Given the description of an element on the screen output the (x, y) to click on. 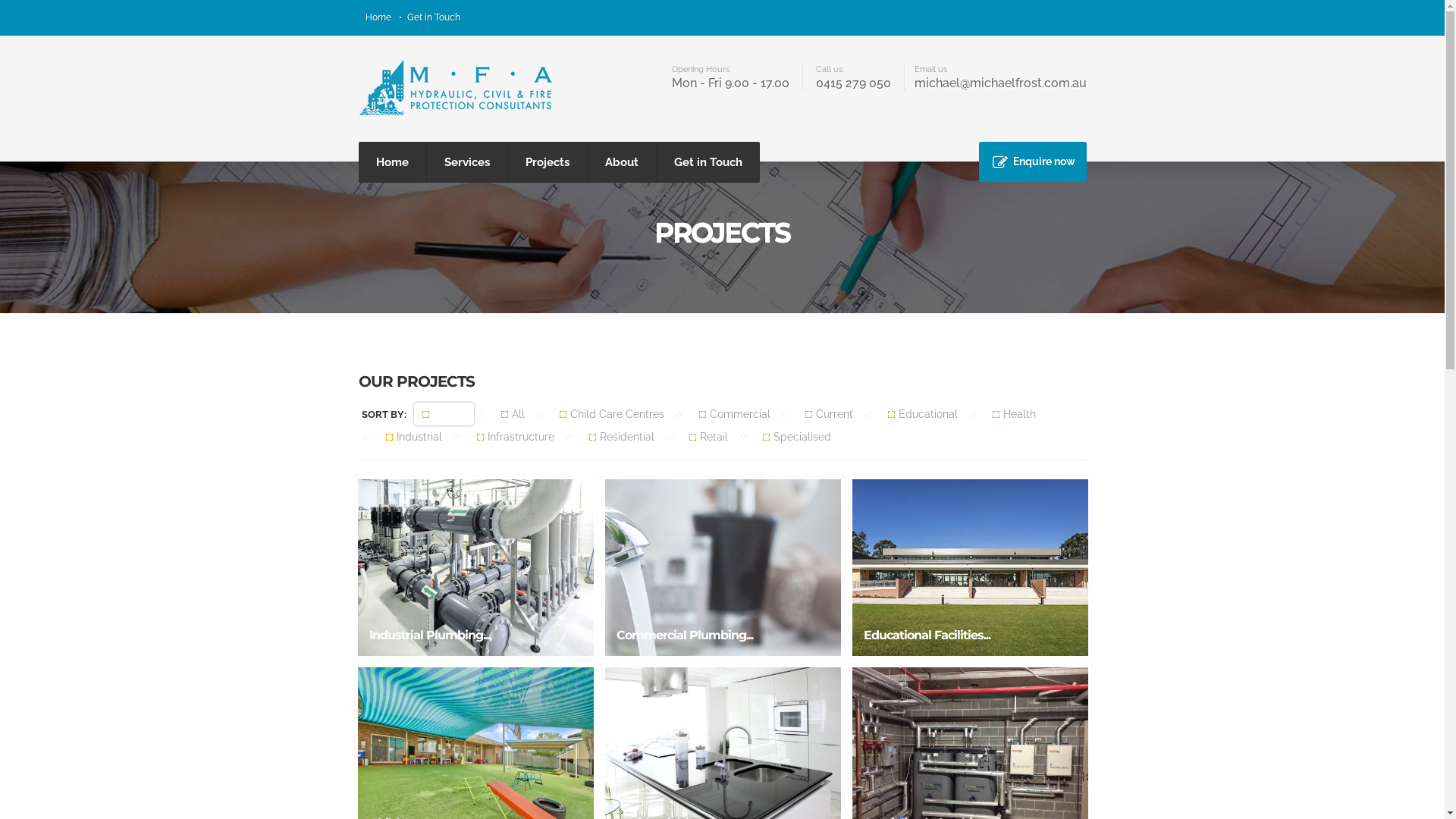
Specialised Element type: text (795, 436)
Health Element type: text (1013, 413)
Industrial Element type: text (413, 436)
Projects Element type: text (547, 161)
Home Element type: text (391, 161)
Current Element type: text (827, 413)
All Element type: text (512, 413)
List All Element type: text (443, 413)
Educational Element type: text (922, 413)
Services Element type: text (466, 161)
Child Care Centres Element type: text (610, 413)
Get in Touch Element type: text (707, 161)
Residential Element type: text (621, 436)
Home Element type: text (378, 17)
Commercial Element type: text (733, 413)
Get in Touch Element type: text (432, 17)
Enquire now Element type: text (1031, 161)
Retail Element type: text (707, 436)
Infrastructure Element type: text (514, 436)
About Element type: text (620, 161)
michael@michaelfrost.com.au Element type: text (1000, 82)
